Given the description of an element on the screen output the (x, y) to click on. 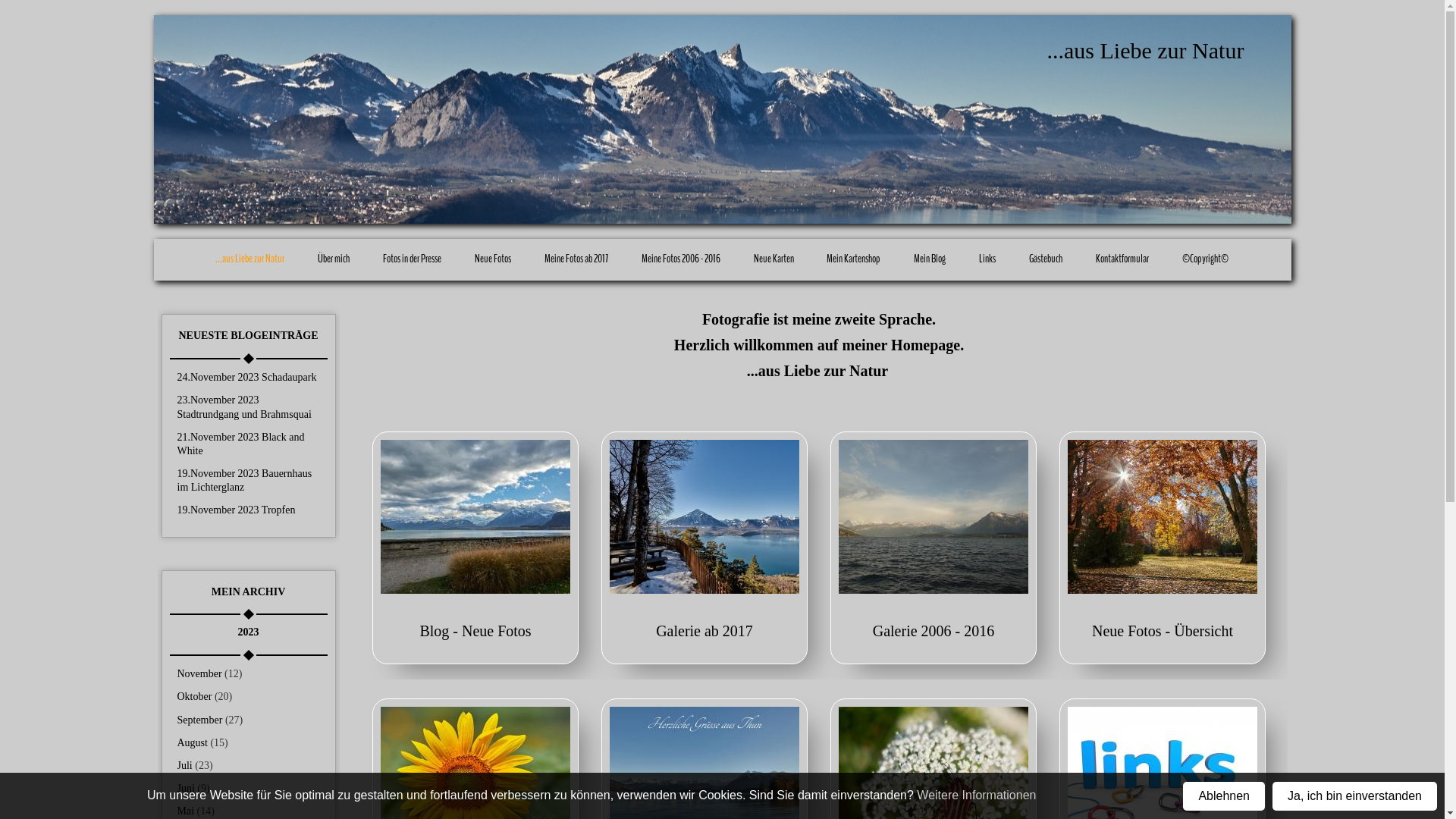
Meine Fotos 2006 - 2016 Element type: text (680, 259)
September (27) Element type: text (210, 719)
...aus Liebe zur Natur Element type: text (250, 259)
Galerie 2006 - 2016 Element type: text (933, 631)
November (12) Element type: text (209, 673)
Links Element type: text (987, 259)
21.November 2023 Black and White Element type: text (240, 443)
Juni (9) Element type: text (193, 787)
Neue Fotos Element type: text (492, 259)
Mein Kartenshop Element type: text (853, 259)
Weitere Informationen Element type: text (975, 794)
Oktober (20) Element type: text (204, 696)
Meine Fotos ab 2017 Element type: text (575, 259)
Juli (23) Element type: text (195, 765)
19.November 2023 Tropfen Element type: text (236, 509)
Blog - Neue Fotos Element type: text (474, 631)
Blog Element type: hover (475, 516)
24.November 2023 Schadaupark Element type: text (246, 376)
Fotos in der Presse Element type: text (412, 259)
Mai (14) Element type: text (195, 810)
19.November 2023 Bauernhaus im Lichterglanz Element type: text (244, 479)
23.November 2023 Stadtrundgang und Brahmsquai Element type: text (244, 406)
Mein Blog Element type: text (929, 259)
Galerie ab 2017 Element type: text (704, 631)
August (15) Element type: text (202, 742)
Kontaktformular Element type: text (1121, 259)
Neue Karten Element type: text (773, 259)
